Given the description of an element on the screen output the (x, y) to click on. 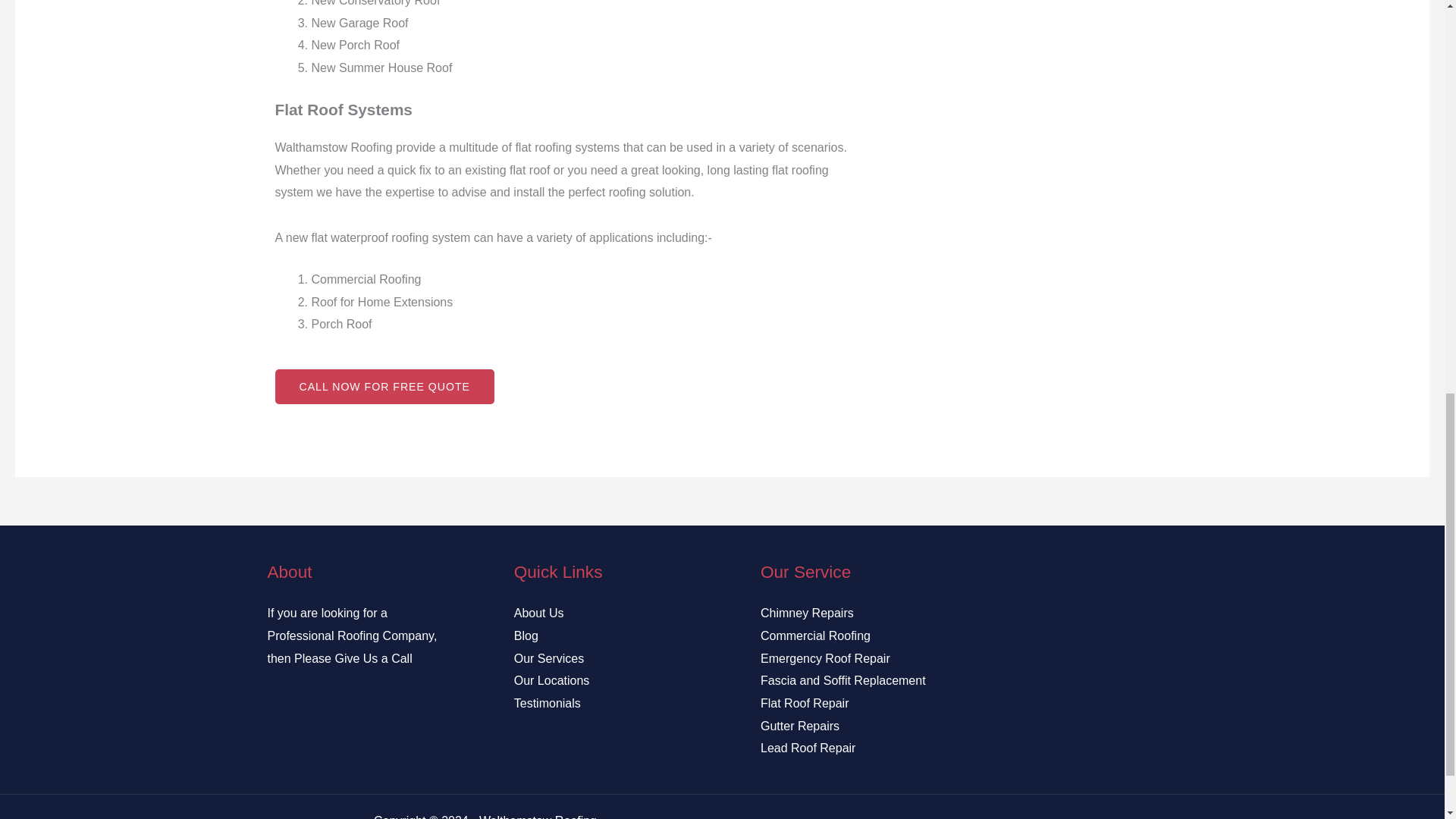
CALL NOW FOR FREE QUOTE (385, 386)
